Given the description of an element on the screen output the (x, y) to click on. 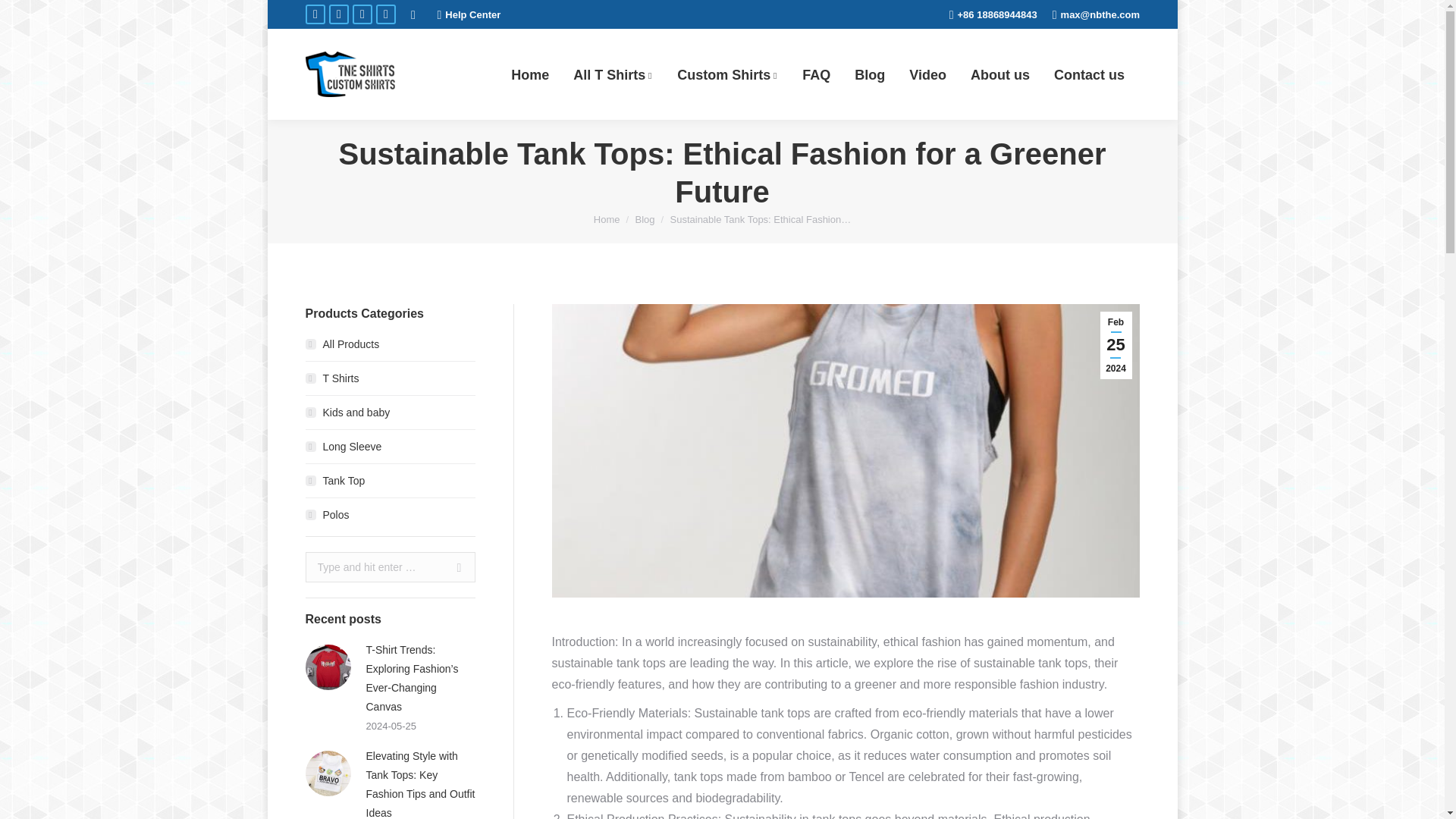
About us (999, 73)
Contact us (1087, 73)
Custom Shirts (727, 73)
Facebook (314, 14)
FAQ (816, 73)
Facebook (314, 14)
YouTube (361, 14)
Go! (22, 15)
Twitter (339, 14)
Pinterest (385, 14)
YouTube (361, 14)
Blog (869, 73)
Go! (453, 567)
All T Shirts (613, 73)
Home (529, 73)
